Given the description of an element on the screen output the (x, y) to click on. 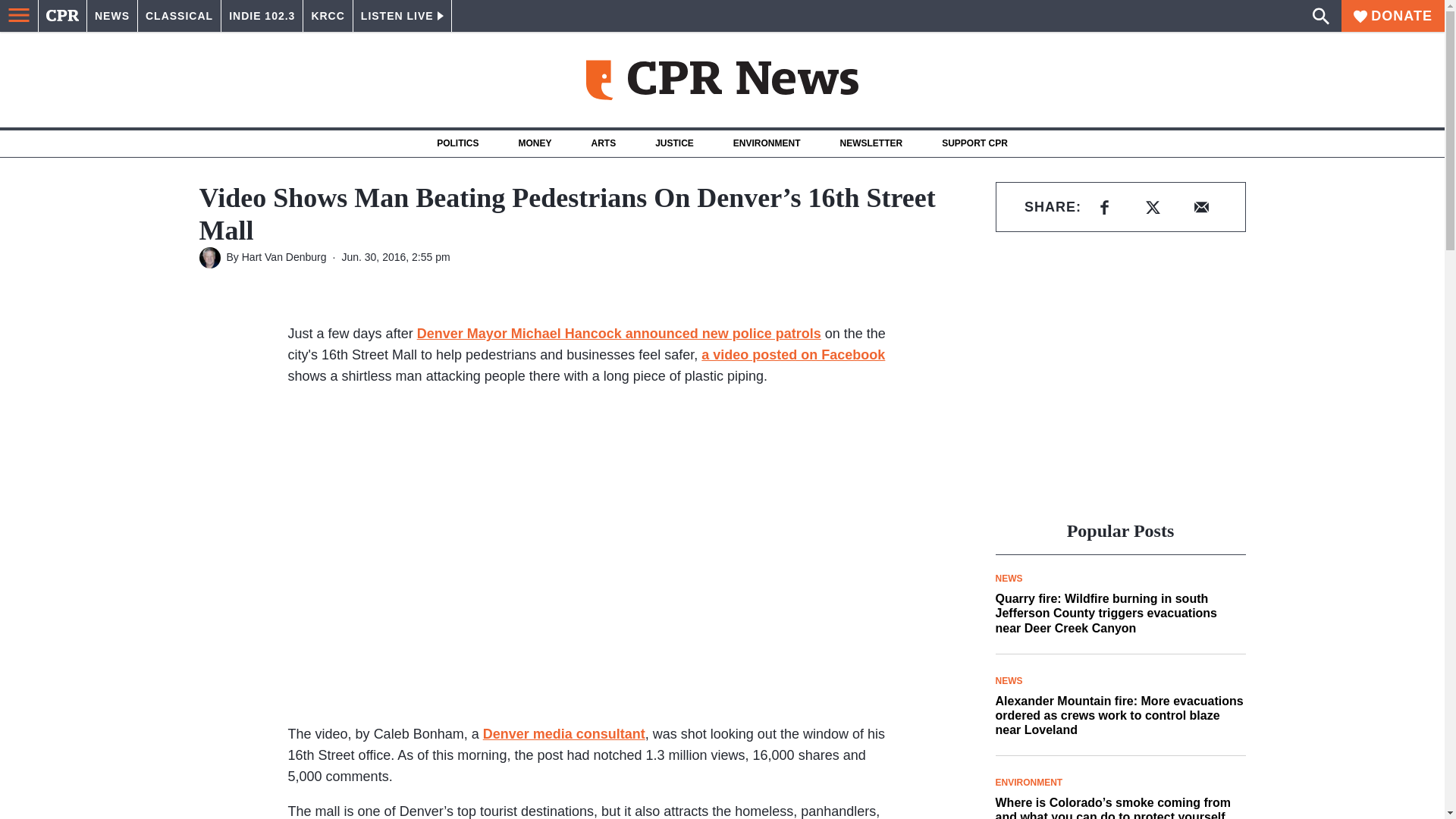
KRCC (327, 15)
NEWS (111, 15)
LISTEN LIVE (402, 15)
INDIE 102.3 (261, 15)
CLASSICAL (179, 15)
